Given the description of an element on the screen output the (x, y) to click on. 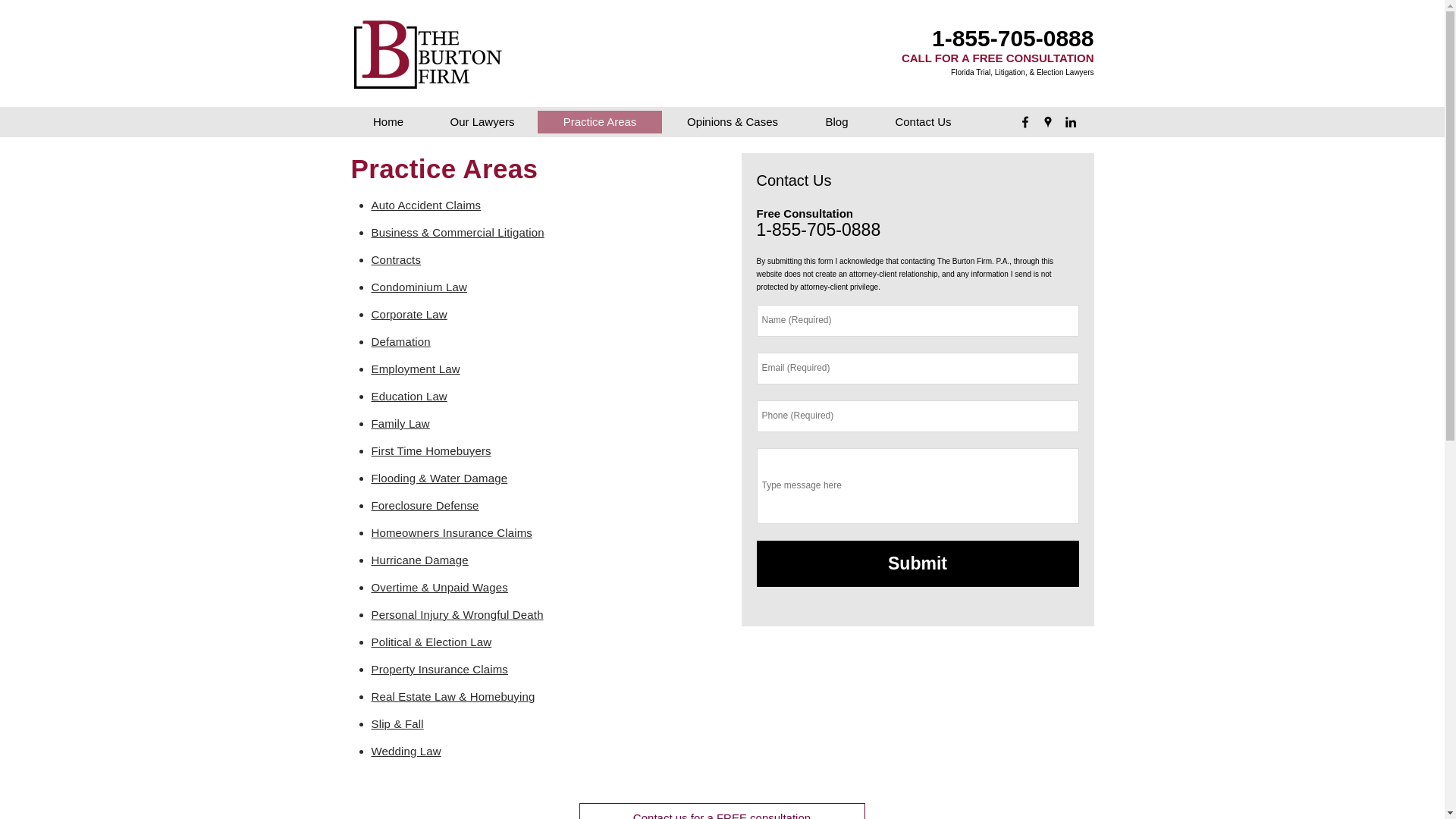
Our Lawyers (481, 121)
Foreclosure Defense (425, 504)
Blog (835, 121)
Home (388, 121)
Homeowners Insurance Claims (451, 532)
Contact Us (922, 121)
Family Law (400, 422)
Employment Law (415, 368)
Education Law (408, 395)
First Time Homebuyers (431, 450)
Practice Areas (599, 121)
Defamation (400, 341)
Condominium Law (419, 286)
Contracts (396, 259)
Auto Accident Claims (426, 205)
